Given the description of an element on the screen output the (x, y) to click on. 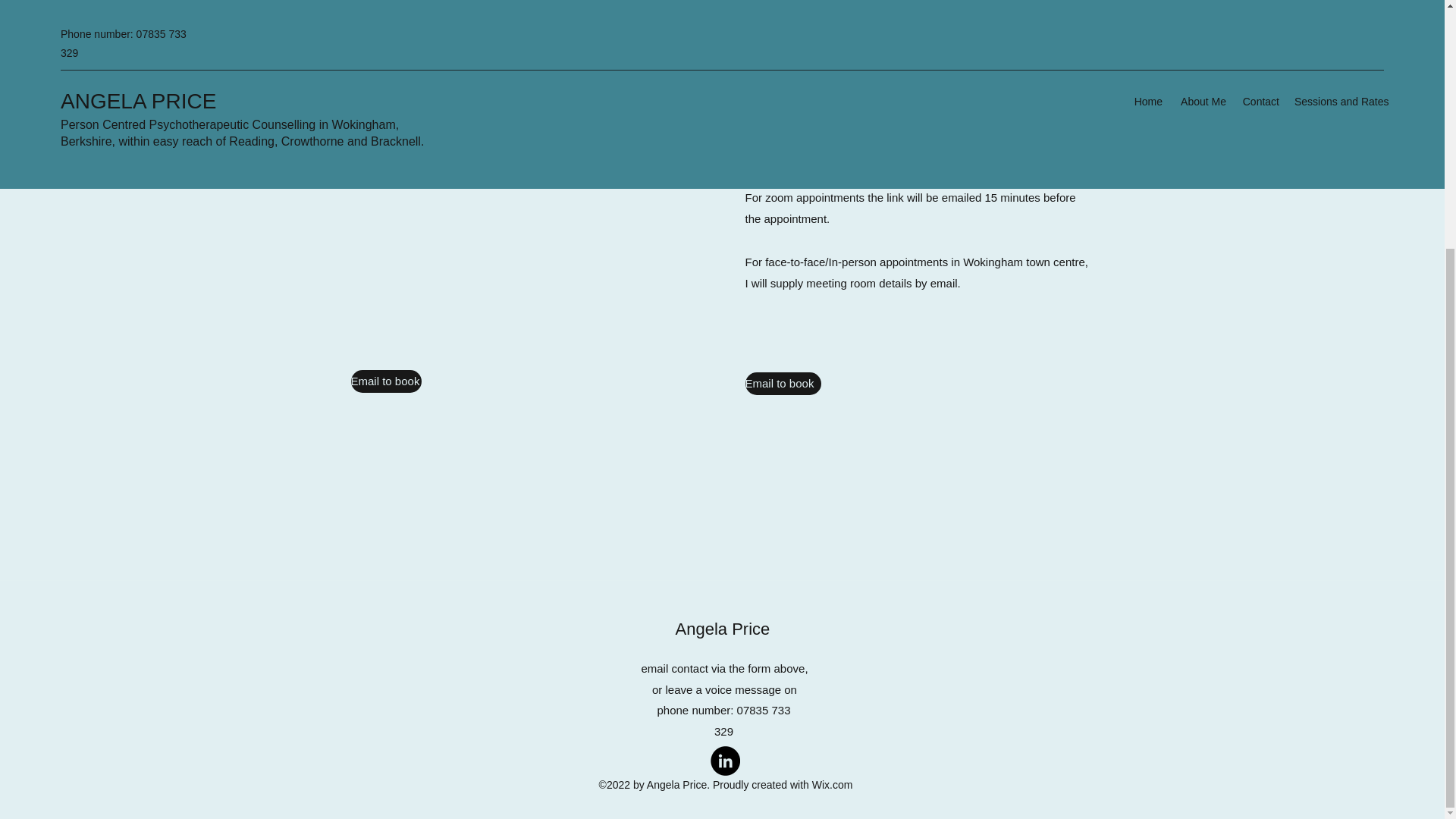
Angela Price  (724, 628)
Email to book (385, 381)
Email to book (782, 383)
